Given the description of an element on the screen output the (x, y) to click on. 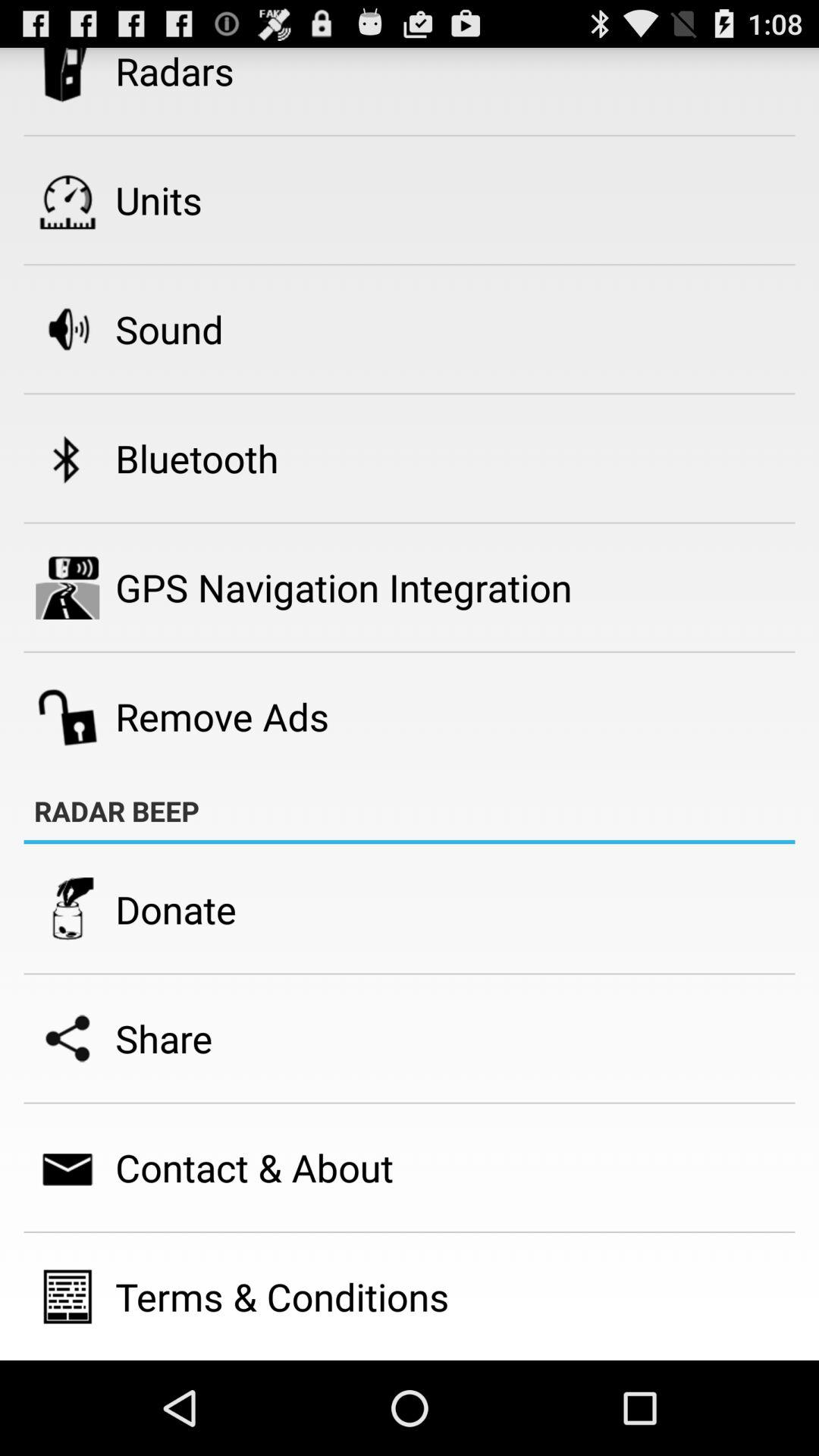
launch the icon below radars item (158, 199)
